Given the description of an element on the screen output the (x, y) to click on. 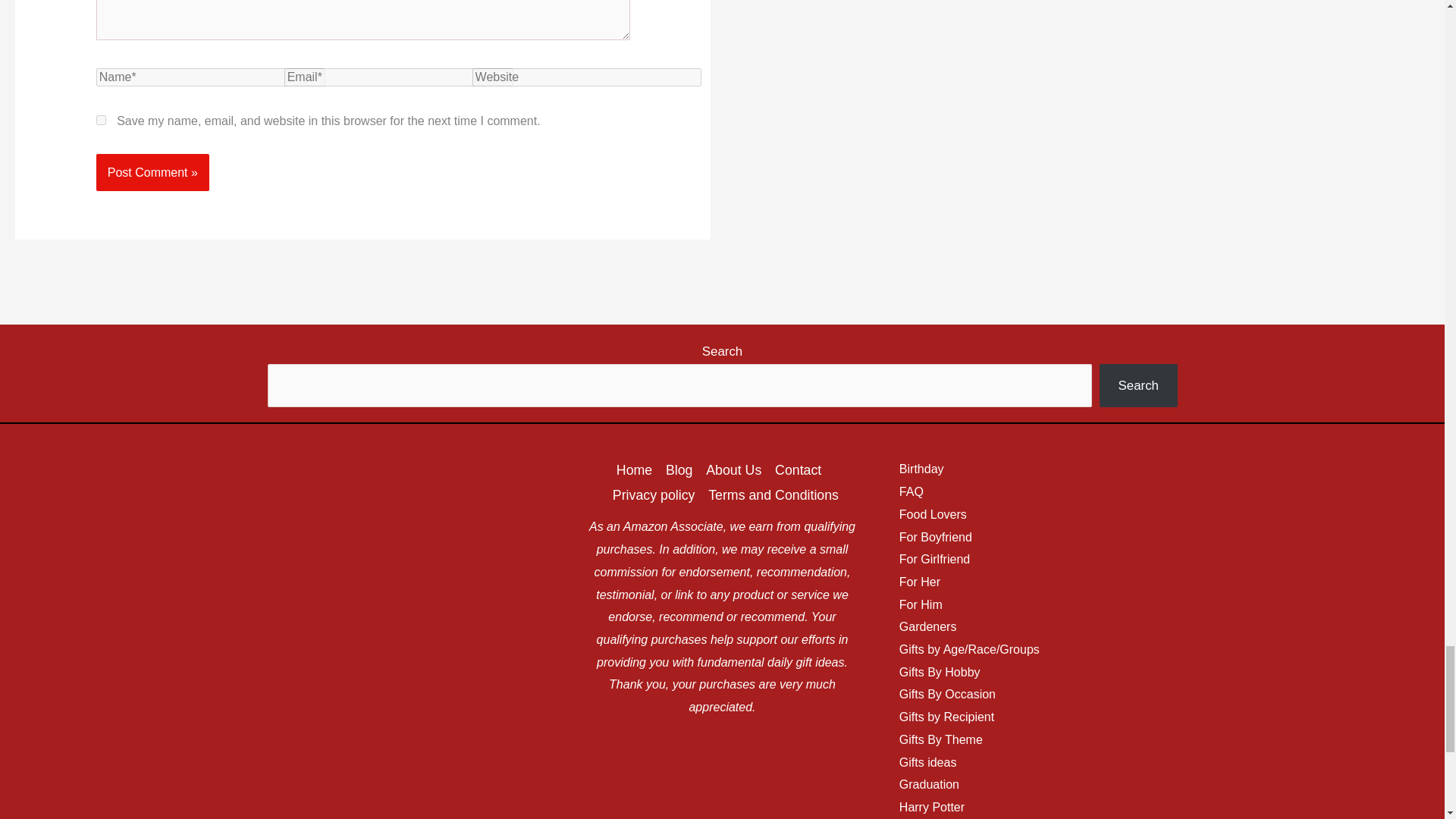
yes (101, 120)
